Given the description of an element on the screen output the (x, y) to click on. 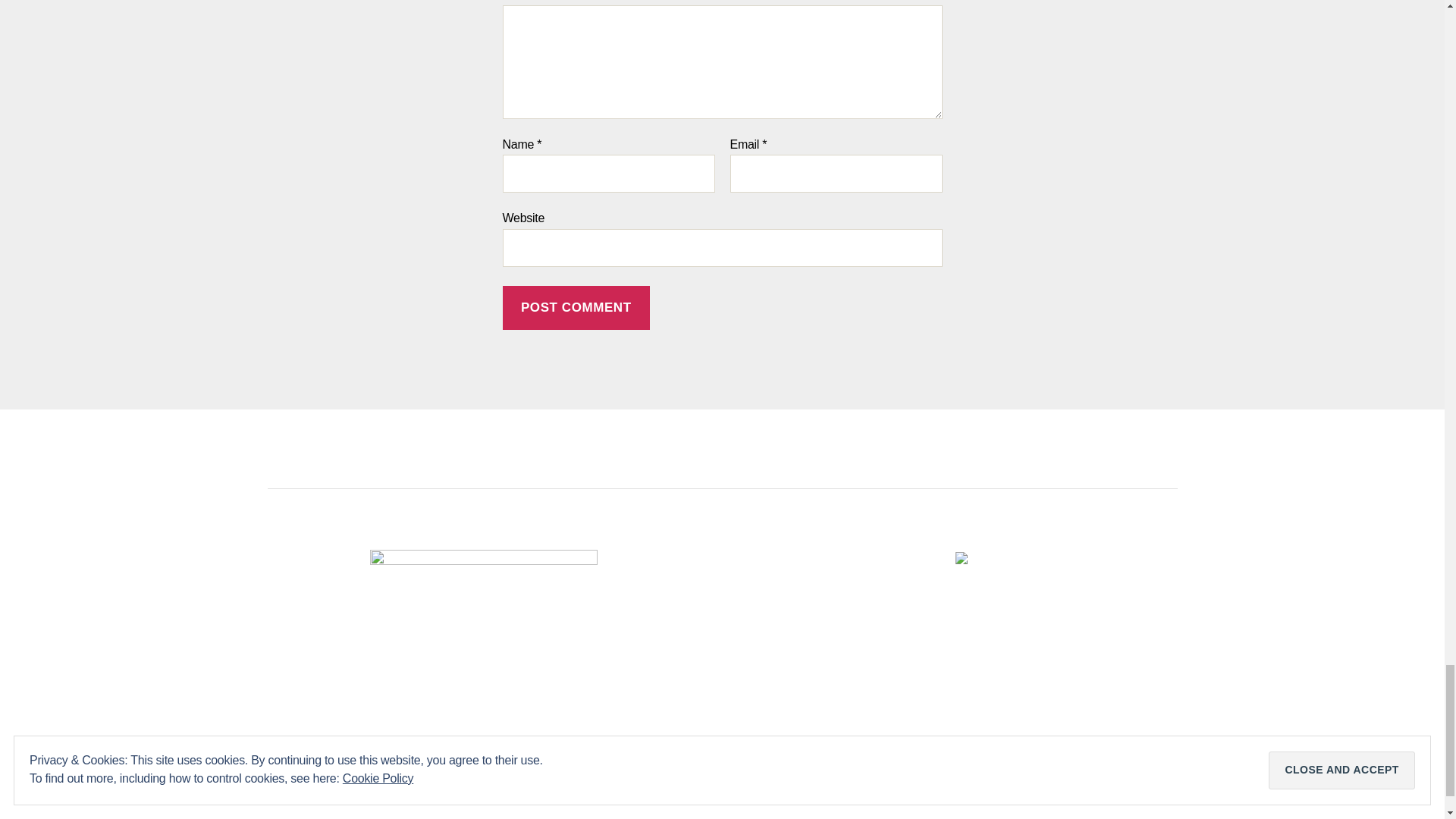
Post Comment (575, 307)
